Given the description of an element on the screen output the (x, y) to click on. 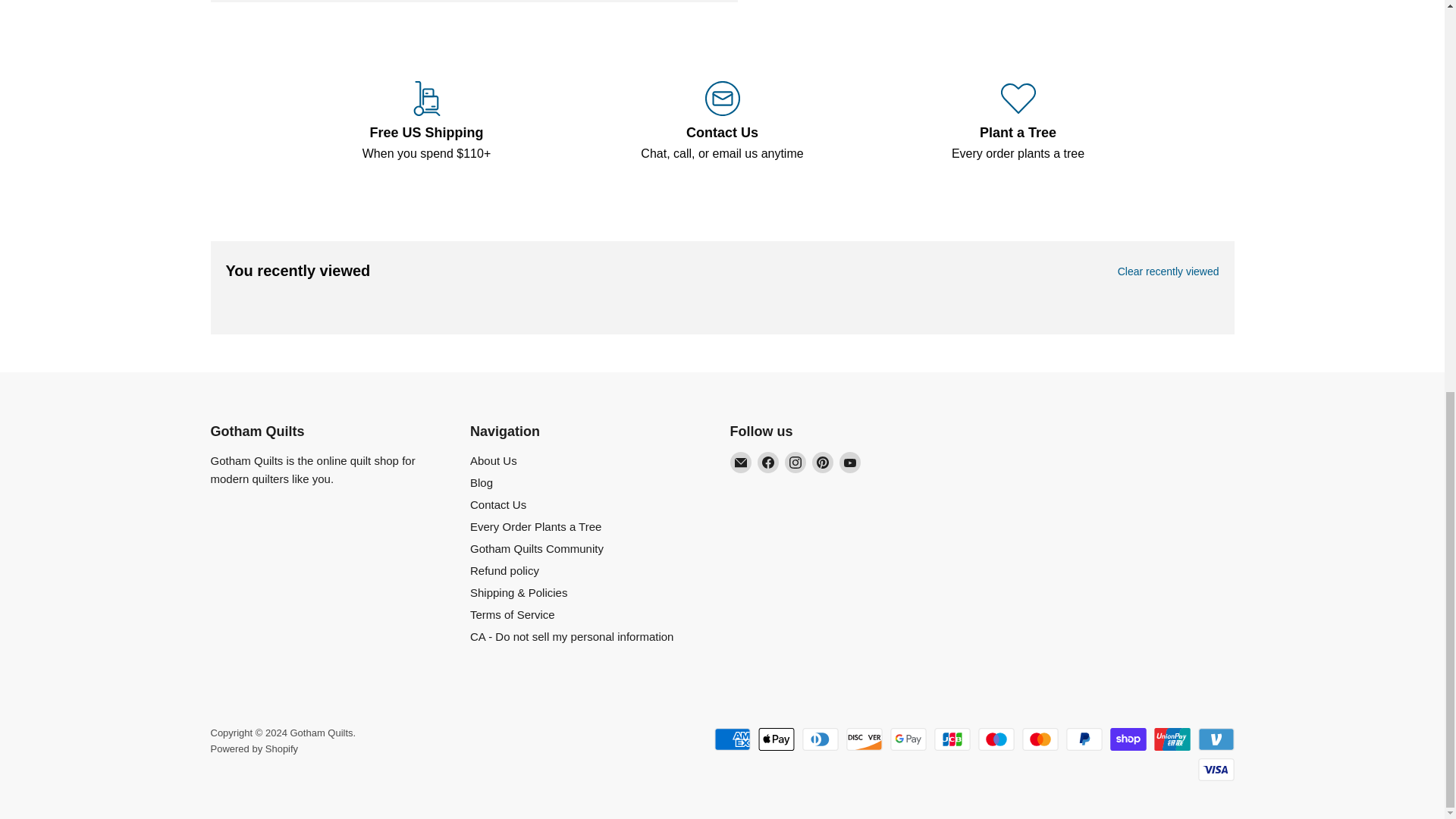
YouTube (849, 462)
Instagram (794, 462)
Email (740, 462)
Facebook (767, 462)
Pinterest (821, 462)
